Given the description of an element on the screen output the (x, y) to click on. 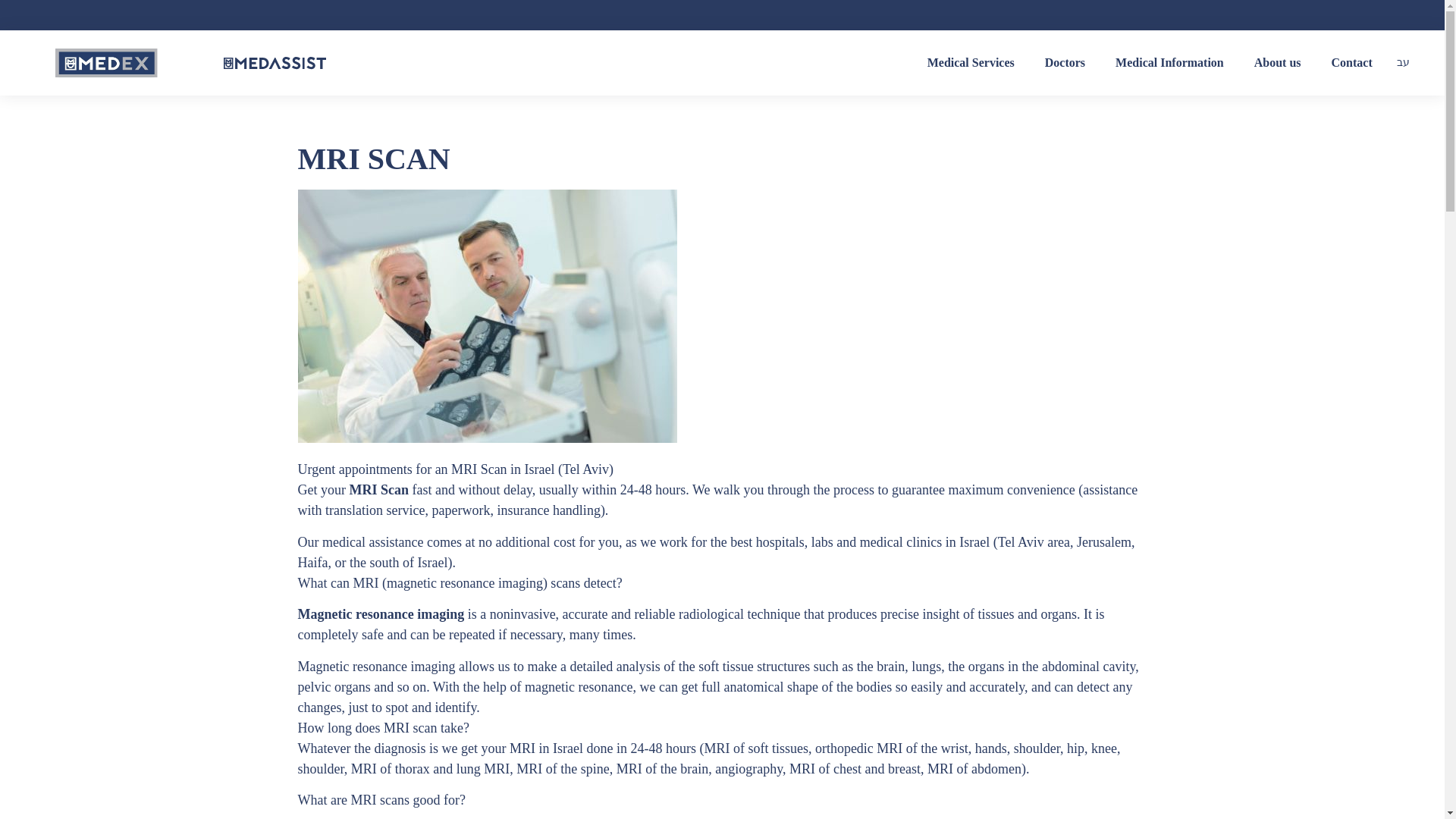
Contact (1351, 62)
About us (1277, 62)
Doctors (1064, 62)
Medical Services (970, 62)
Medical Information (1169, 62)
